Given the description of an element on the screen output the (x, y) to click on. 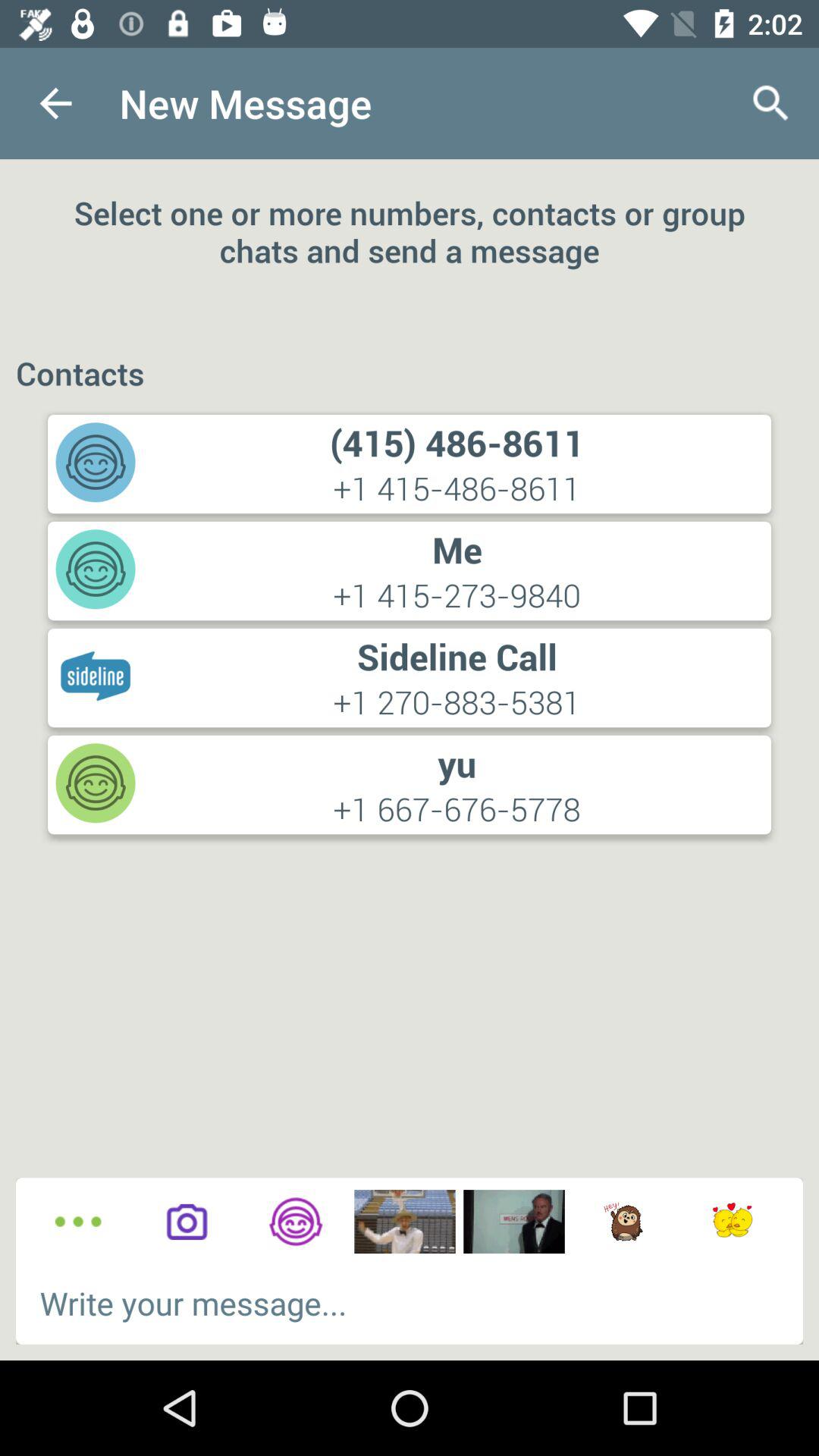
press the item above the select one or icon (55, 103)
